Given the description of an element on the screen output the (x, y) to click on. 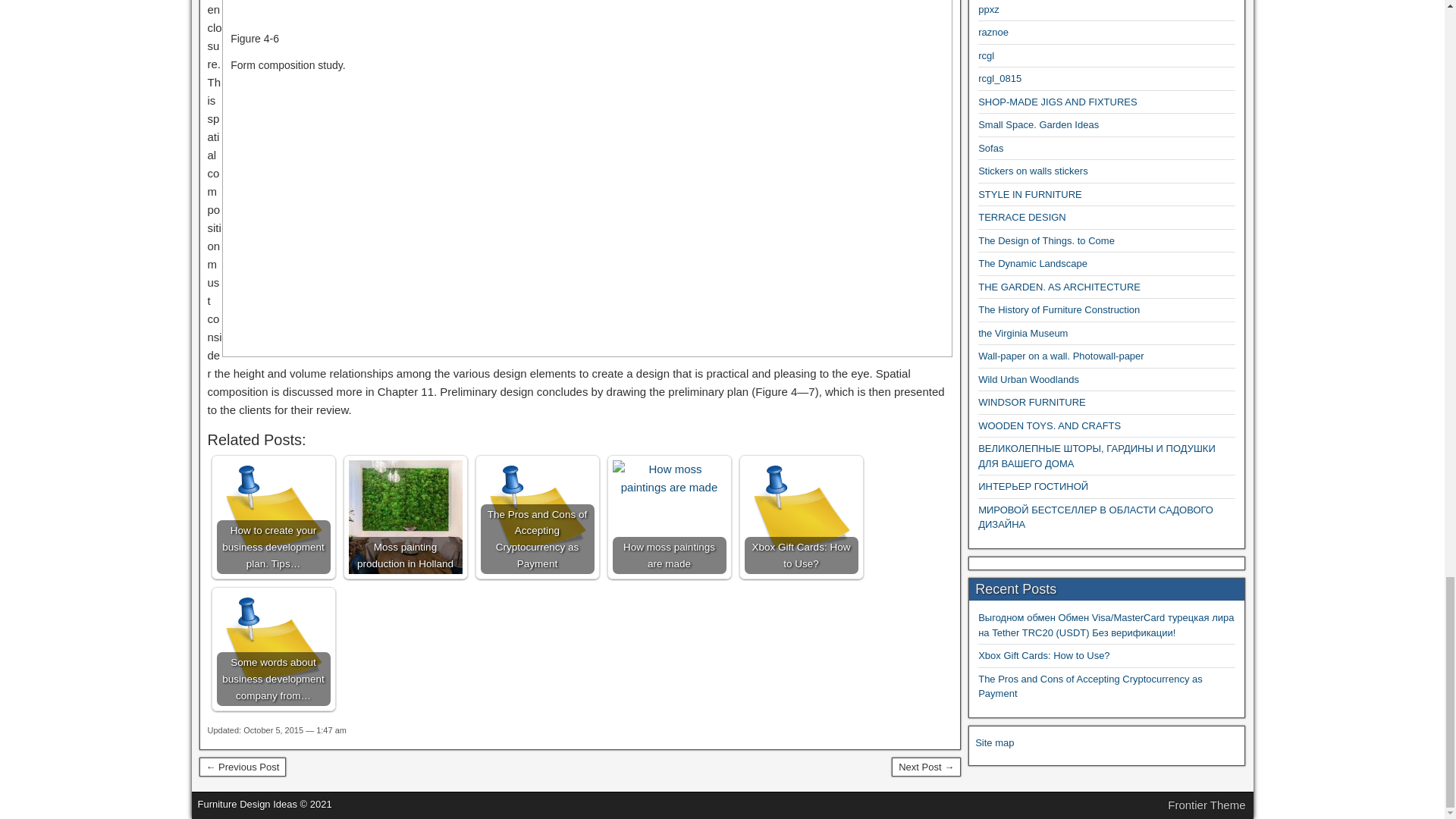
The Pros and Cons of Accepting Cryptocurrency as Payment (537, 517)
Moss painting production in Holland (406, 517)
Materials (925, 767)
Moss painting production in Holland (406, 517)
How moss paintings are made (669, 517)
How moss paintings are made (669, 478)
The Pros and Cons of Accepting Cryptocurrency as Payment (537, 517)
Xbox Gift Cards: How to Use? (801, 517)
Xbox Gift Cards: How to Use? (801, 517)
